Given the description of an element on the screen output the (x, y) to click on. 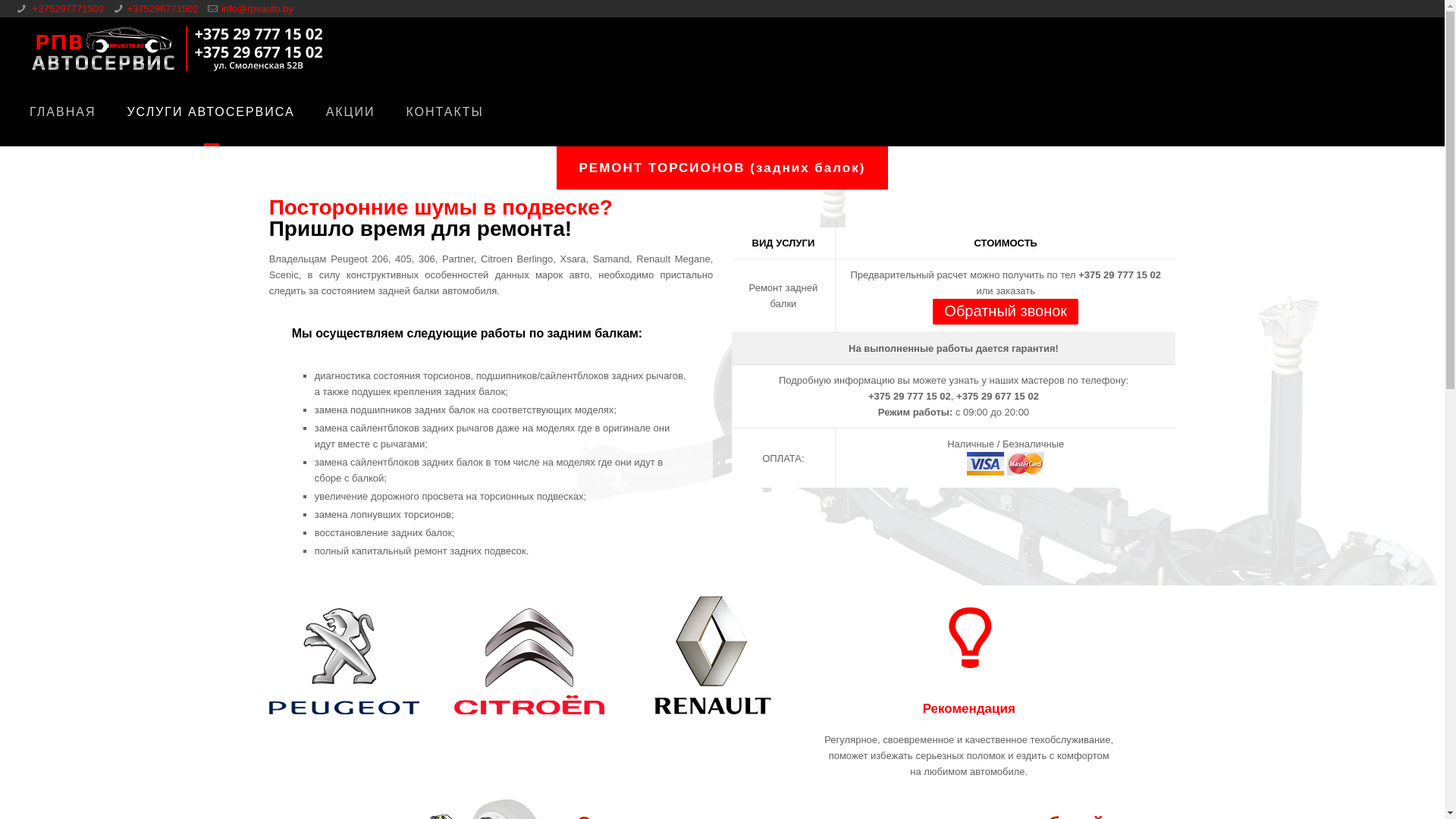
info@rpvauto.by Element type: text (257, 8)
+375297771502 Element type: text (66, 8)
+375296771502 Element type: text (161, 8)
